Given the description of an element on the screen output the (x, y) to click on. 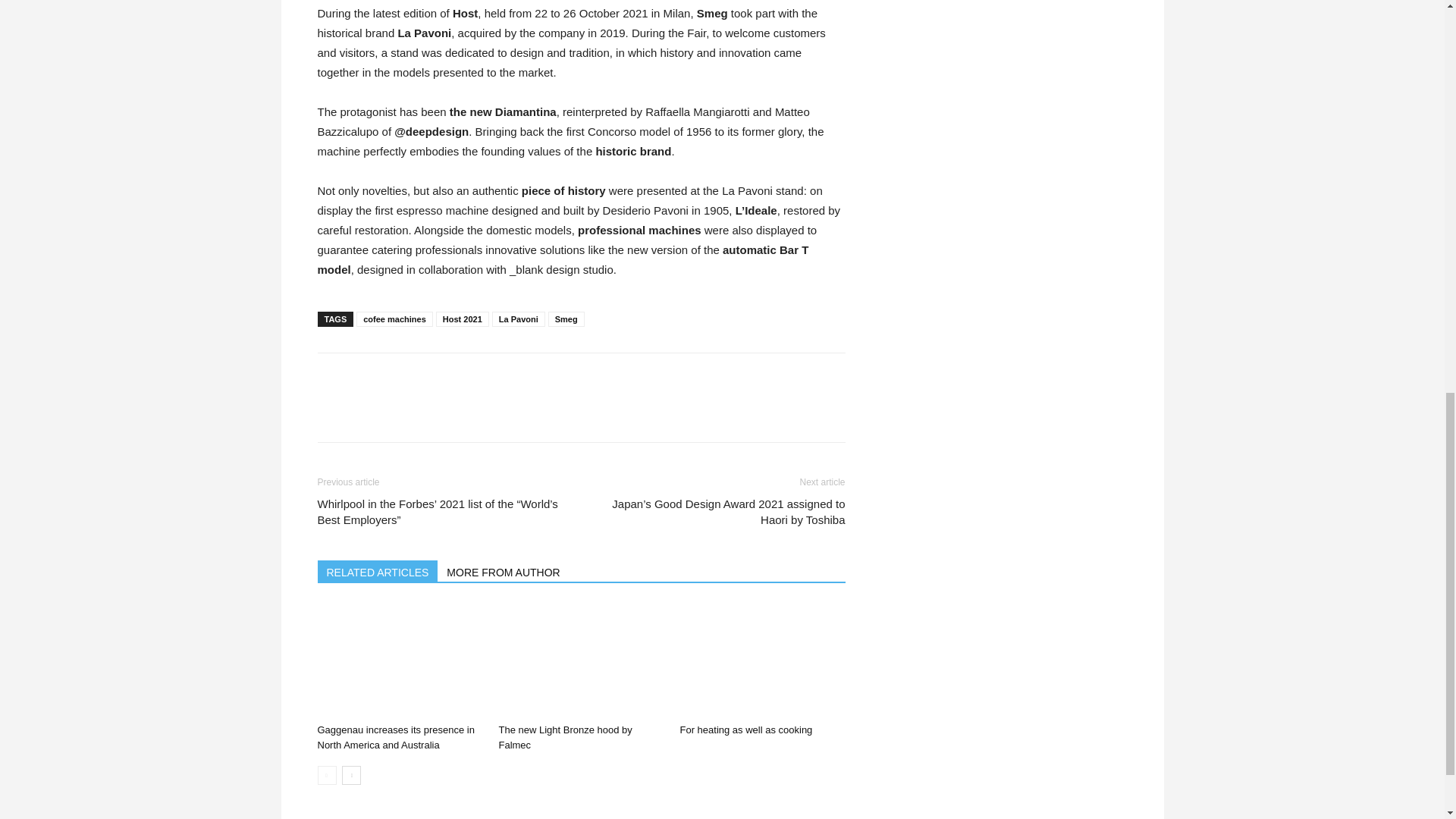
For heating as well as cooking (745, 729)
Host 2021 (462, 319)
La Pavoni (518, 319)
The new Light Bronze hood by Falmec (580, 660)
cofee machines (394, 319)
Smeg (566, 319)
The new Light Bronze hood by Falmec (564, 737)
For heating as well as cooking (761, 660)
